Given the description of an element on the screen output the (x, y) to click on. 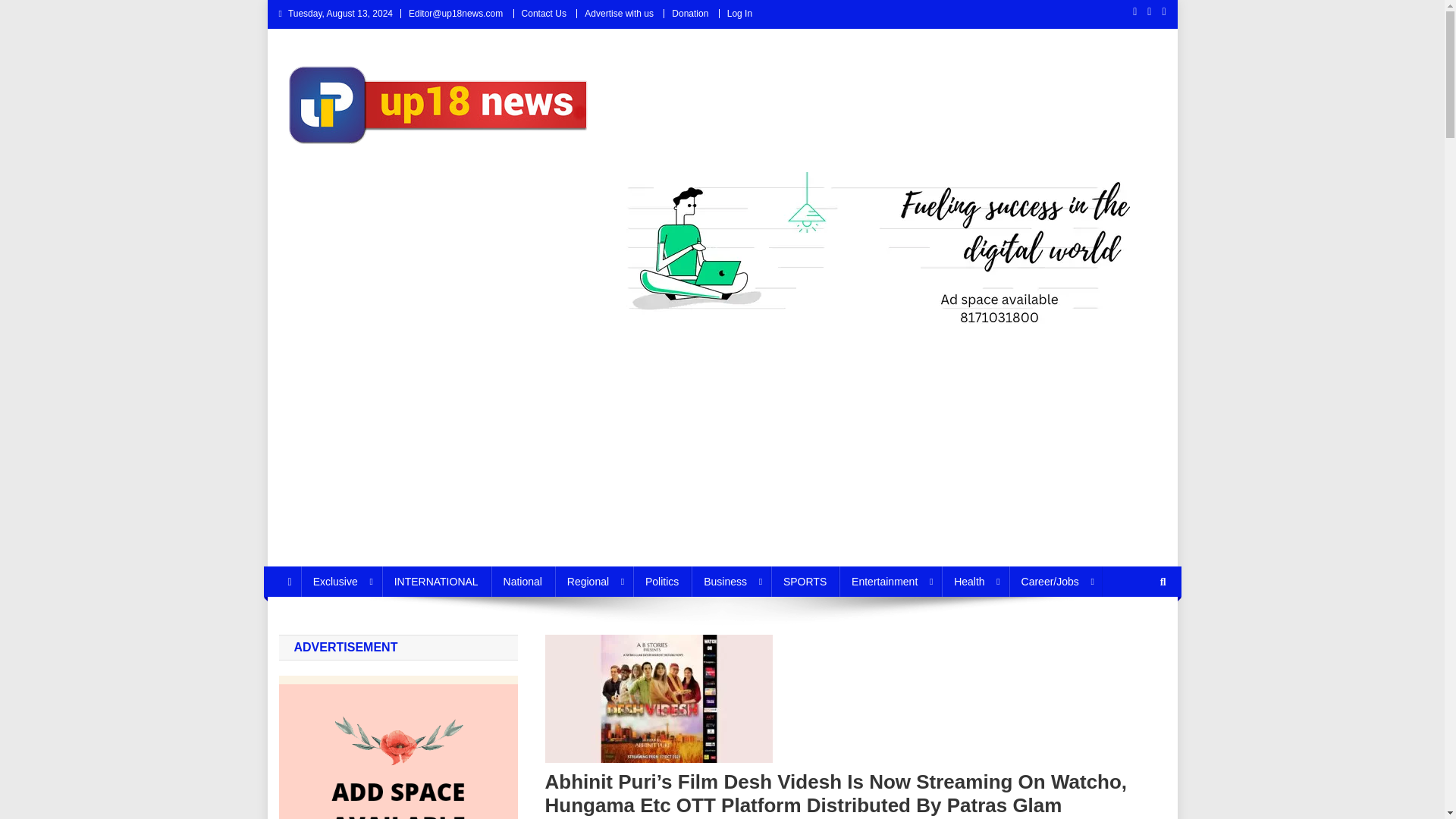
SPORTS (804, 581)
Search (1133, 632)
Politics (661, 581)
Exclusive News (341, 581)
Health (974, 581)
INTERNATIONAL News (435, 581)
Exclusive (341, 581)
Contact Us (543, 13)
Entertainment (890, 581)
Log In (739, 13)
